Given the description of an element on the screen output the (x, y) to click on. 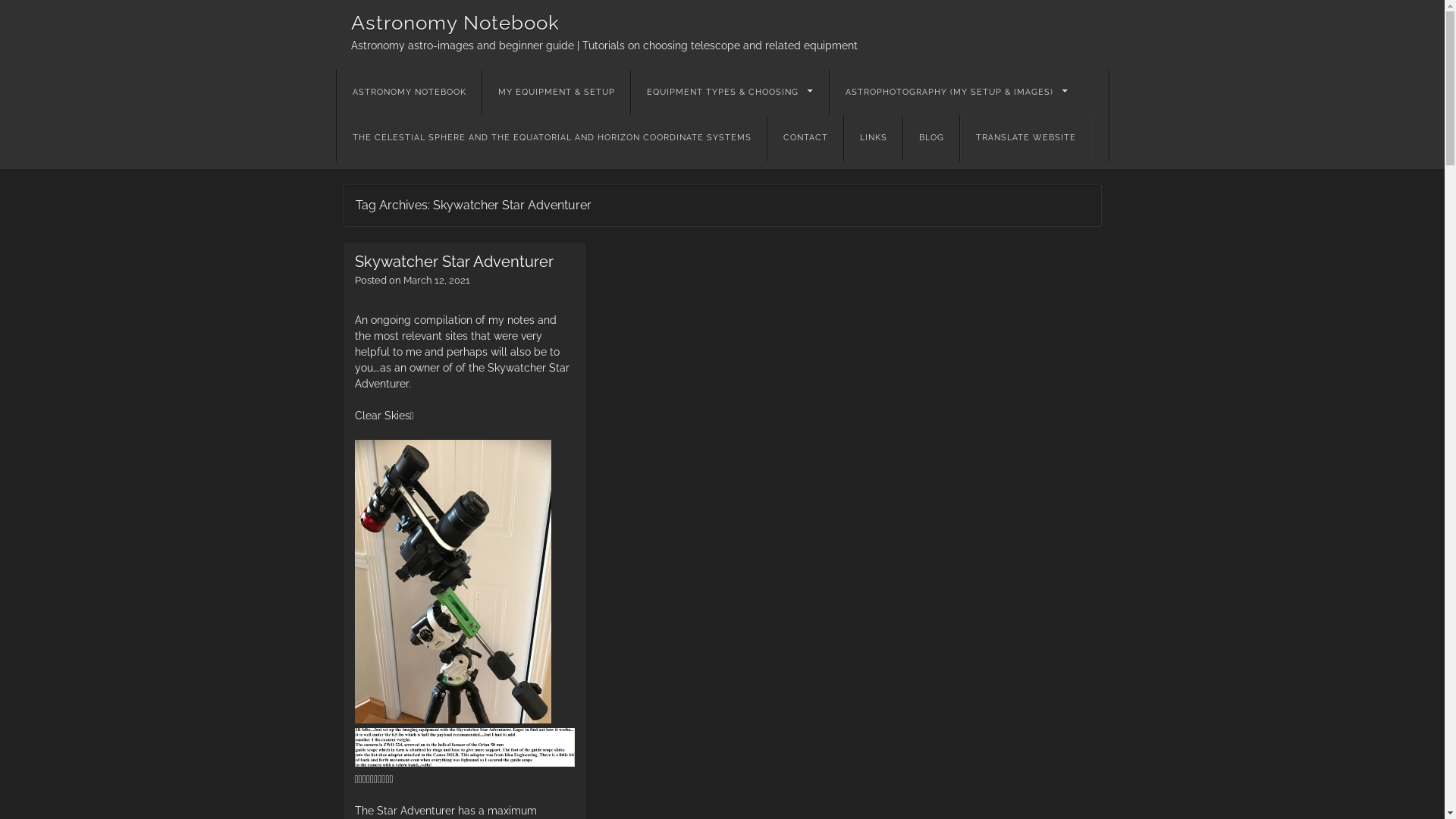
ASTROPHOTOGRAPHY (MY SETUP & IMAGES) Element type: text (956, 92)
EQUIPMENT TYPES & CHOOSING Element type: text (729, 92)
March 12, 2021 Element type: text (436, 279)
MY EQUIPMENT & SETUP Element type: text (556, 92)
Astronomy Notebook Element type: text (454, 21)
ASTRONOMY NOTEBOOK Element type: text (408, 92)
LINKS Element type: text (872, 138)
Skywatcher Star Adventurer Element type: text (453, 261)
TRANSLATE WEBSITE Element type: text (1026, 138)
CONTACT Element type: text (805, 138)
BLOG Element type: text (930, 138)
